Given the description of an element on the screen output the (x, y) to click on. 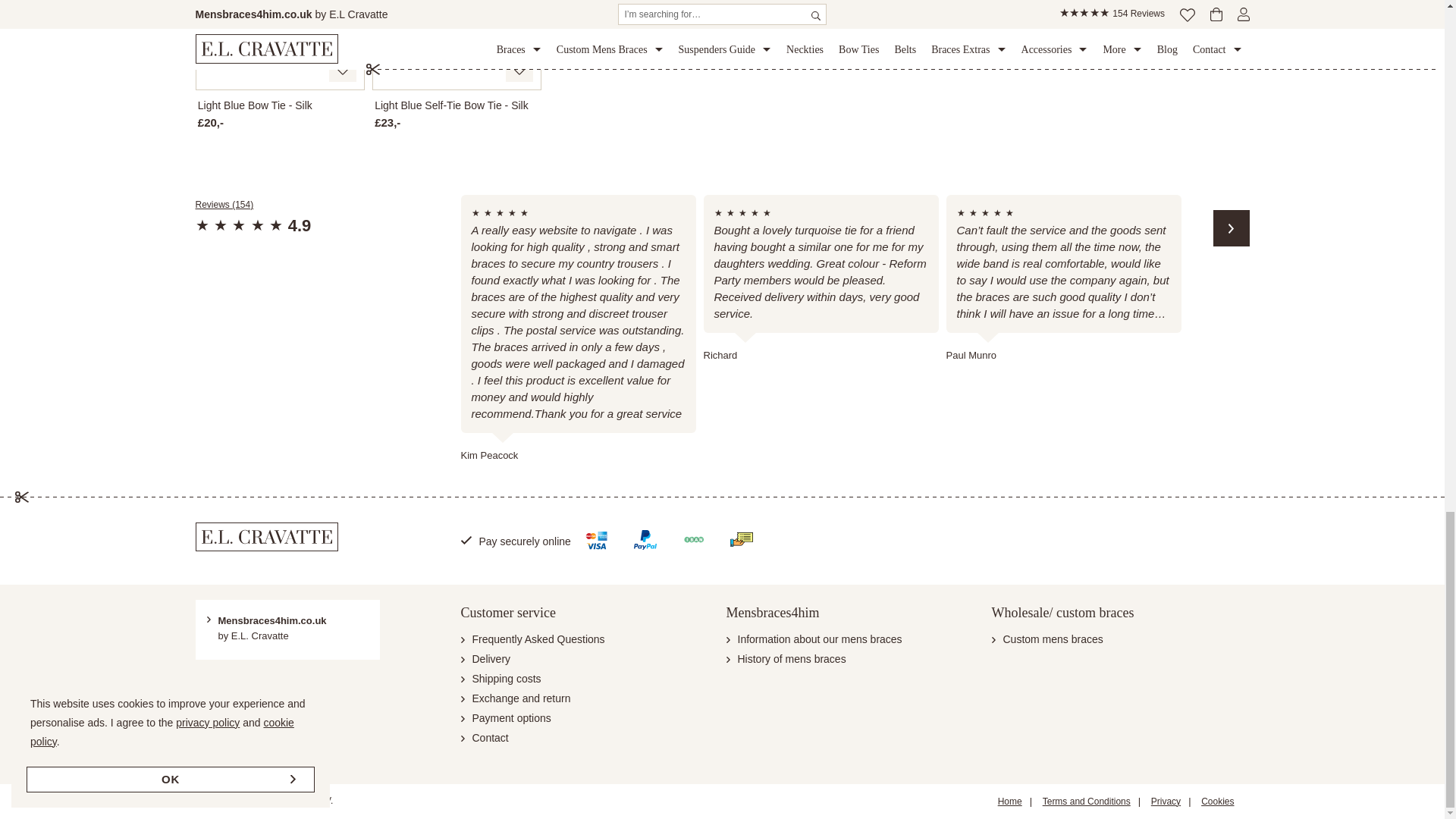
Exchange and return (515, 698)
Delivery (486, 658)
FAQ (533, 639)
Shipping costs (501, 678)
History of mens braces (785, 658)
Payment options (506, 717)
Contact (484, 737)
custom mens braces (1047, 639)
Our mens braces (814, 639)
